Given the description of an element on the screen output the (x, y) to click on. 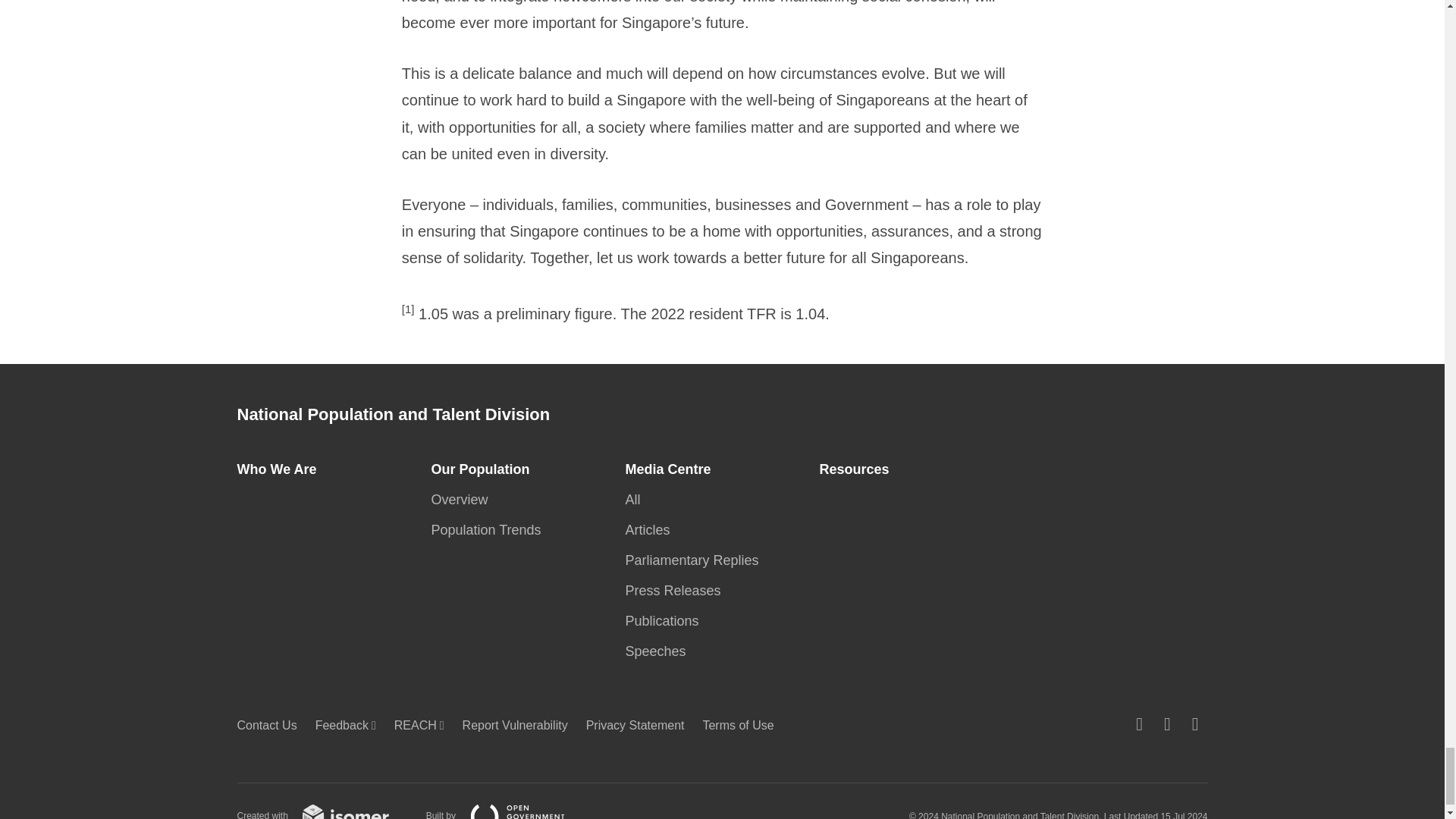
Link to reach.gov.sg (423, 725)
Media Centre (671, 468)
All (636, 499)
Who We Are (279, 468)
Speeches (659, 651)
Articles (651, 529)
Population Trends (490, 529)
Our Population (484, 468)
Press Releases (676, 590)
Parliamentary Replies (695, 560)
Overview (463, 499)
Publications (665, 620)
